Given the description of an element on the screen output the (x, y) to click on. 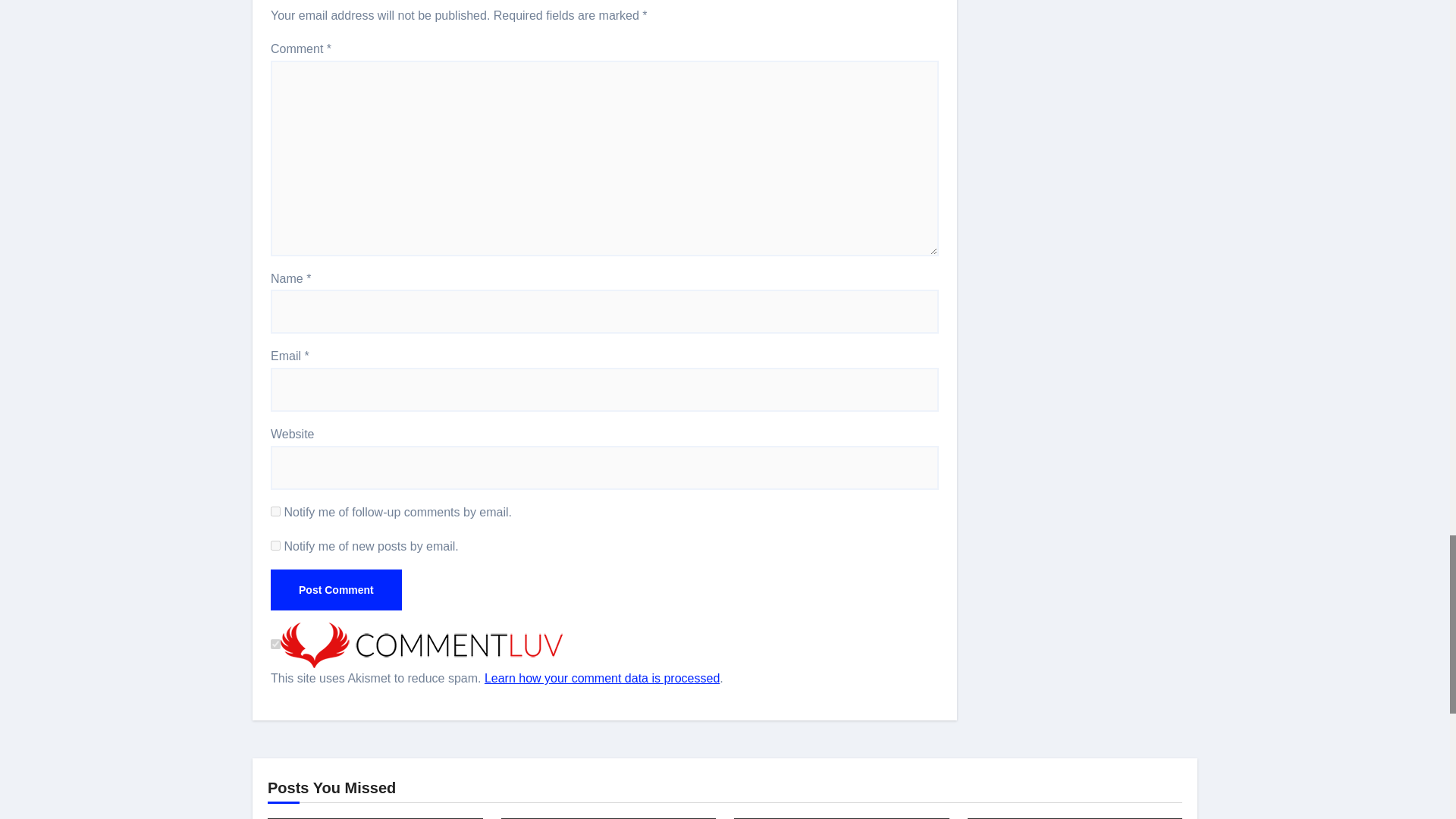
Post Comment (335, 589)
on (275, 644)
CommentLuv is enabled (421, 644)
subscribe (275, 511)
subscribe (275, 545)
